Given the description of an element on the screen output the (x, y) to click on. 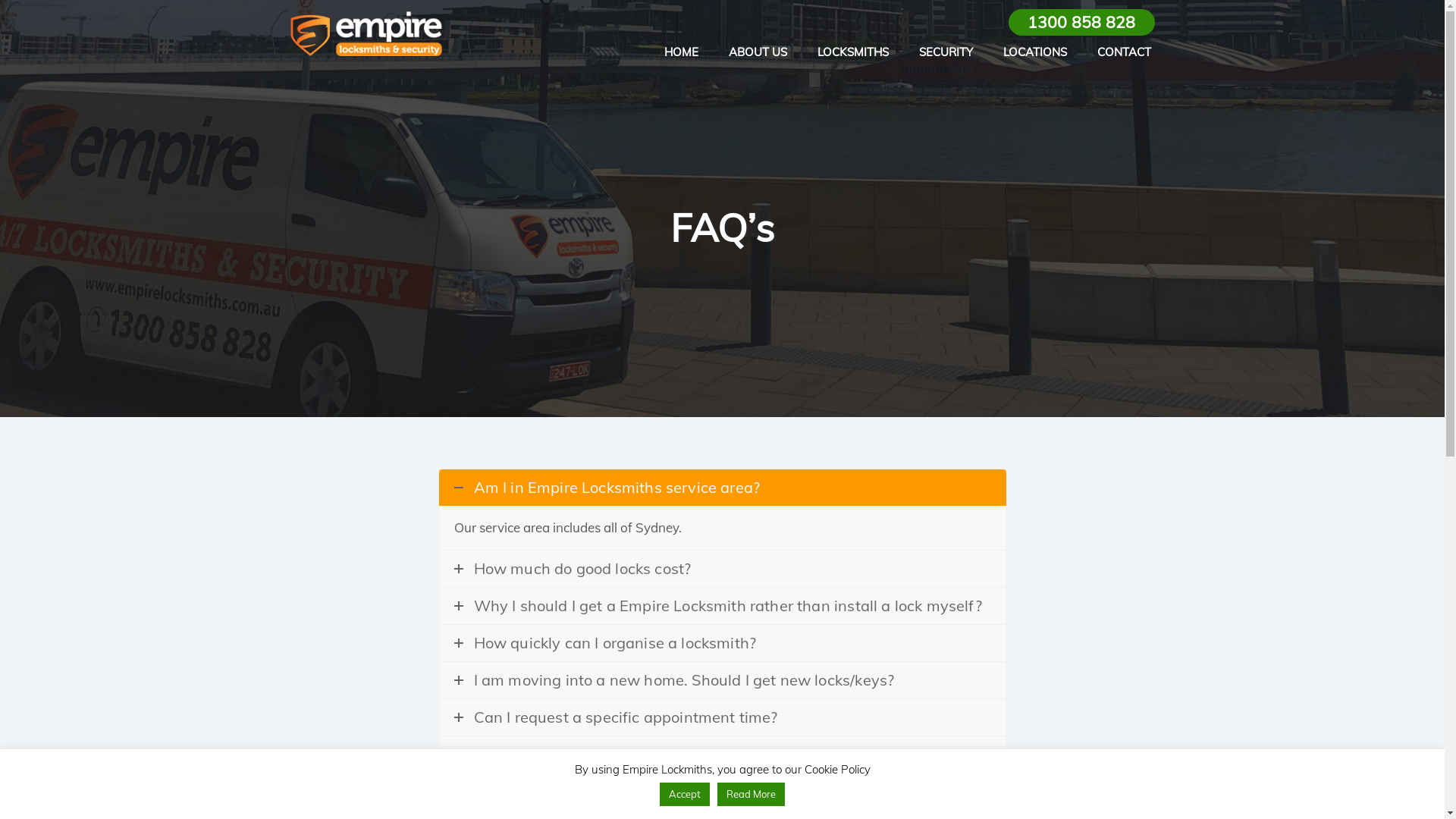
How much do good locks cost? Element type: text (721, 568)
Accept Element type: text (684, 794)
LOCKSMITHS Element type: text (852, 51)
CONTACT Element type: text (1124, 51)
HOME Element type: text (681, 51)
I am moving into a new home. Should I get new locks/keys? Element type: text (721, 680)
How quickly can I organise a locksmith? Element type: text (721, 642)
Do you have EFTPOS payment options? Element type: text (721, 754)
SECURITY Element type: text (945, 51)
ABOUT US Element type: text (757, 51)
Can I request a specific appointment time? Element type: text (721, 717)
Read More Element type: text (750, 794)
Am I in Empire Locksmiths service area? Element type: text (721, 487)
1300 858 828 Element type: text (1081, 22)
LOCATIONS Element type: text (1035, 51)
